Given the description of an element on the screen output the (x, y) to click on. 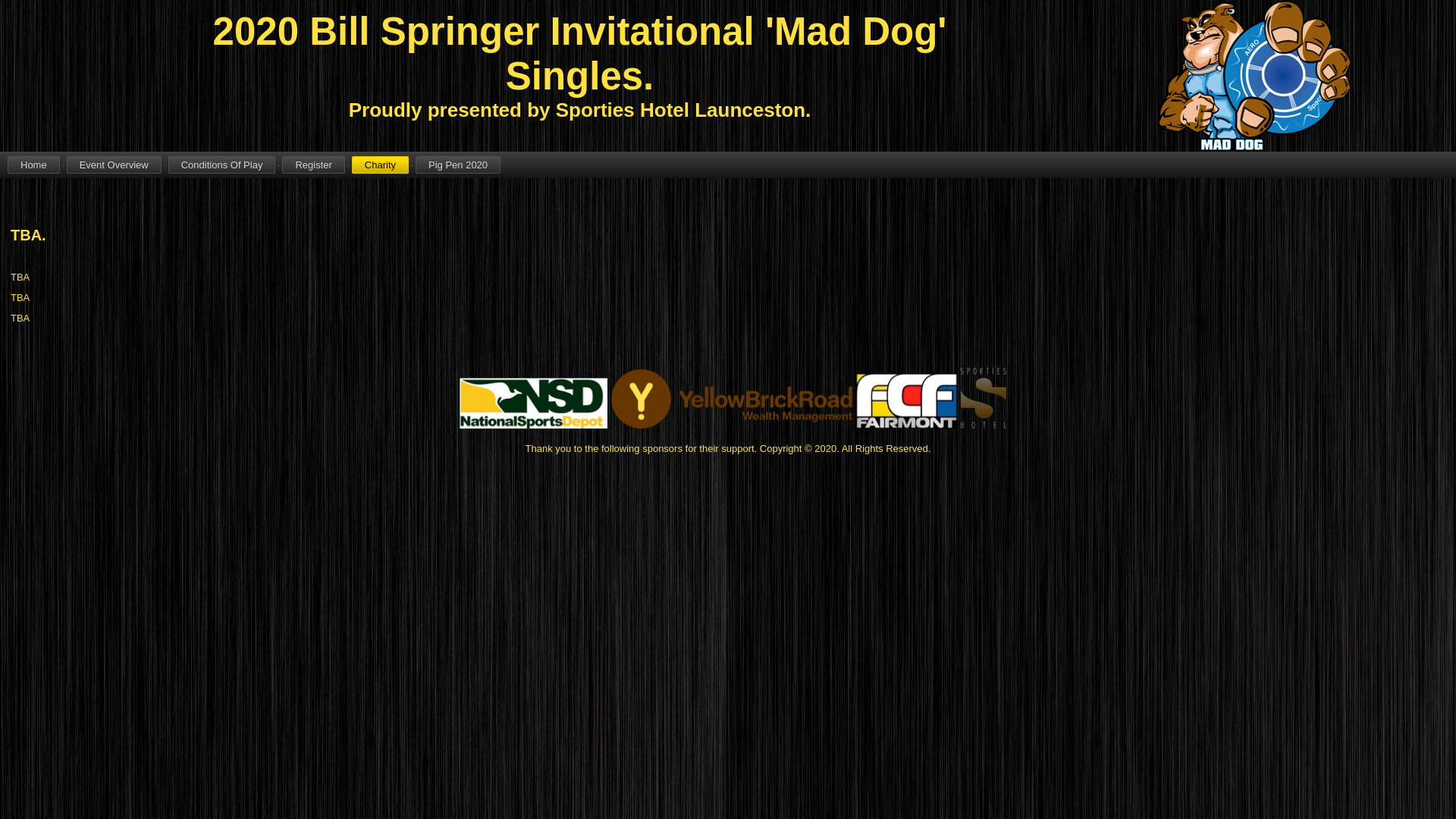
Register Element type: text (313, 164)
Conditions Of Play Element type: text (222, 164)
2020 Bill Springer Invitational 'Mad Dog' Singles. Element type: text (580, 53)
Charity Element type: text (379, 164)
Home Element type: text (33, 164)
Event Overview Element type: text (113, 164)
Pig Pen 2020 Element type: text (457, 164)
